Given the description of an element on the screen output the (x, y) to click on. 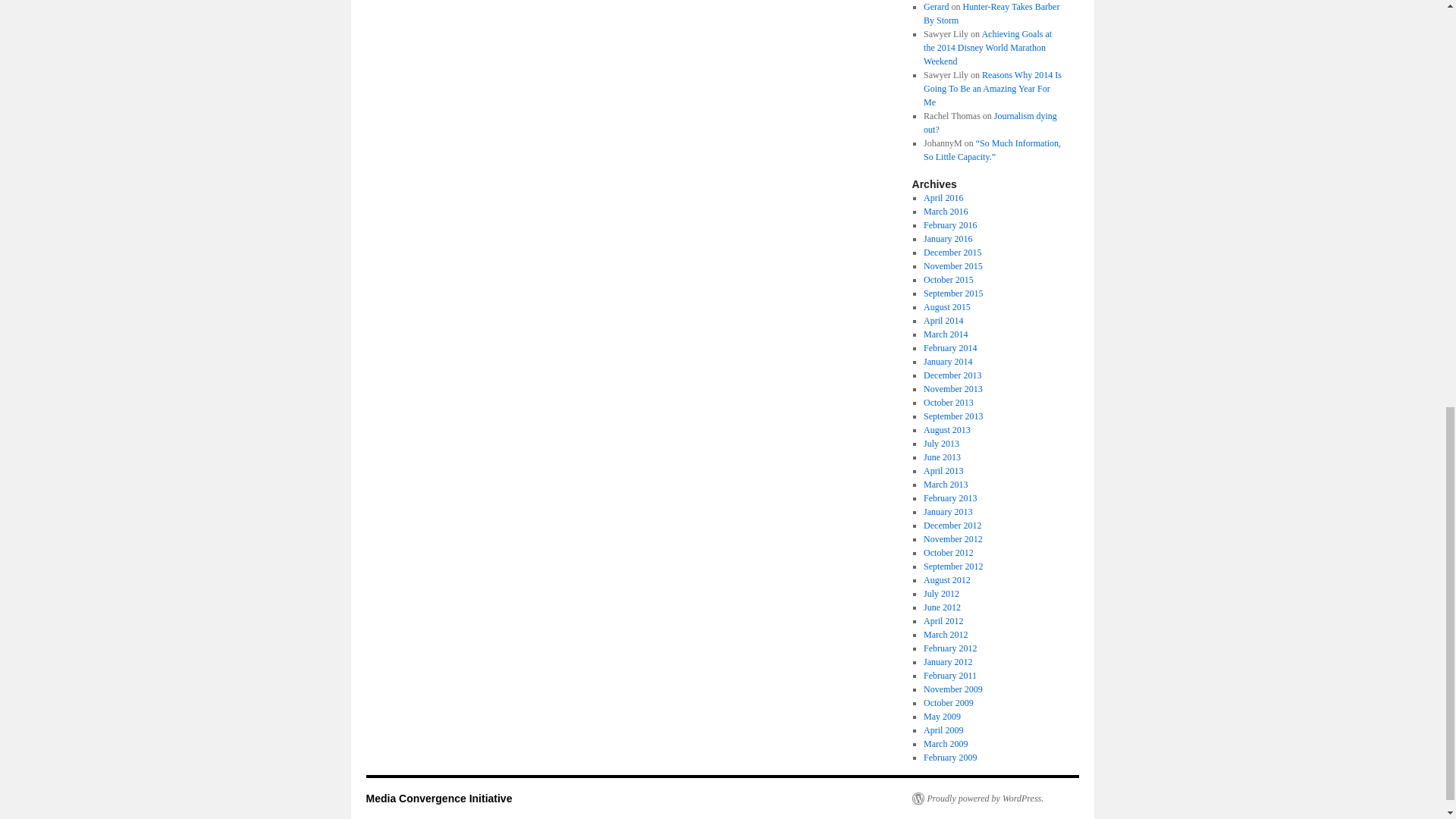
Semantic Personal Publishing Platform (977, 798)
